Given the description of an element on the screen output the (x, y) to click on. 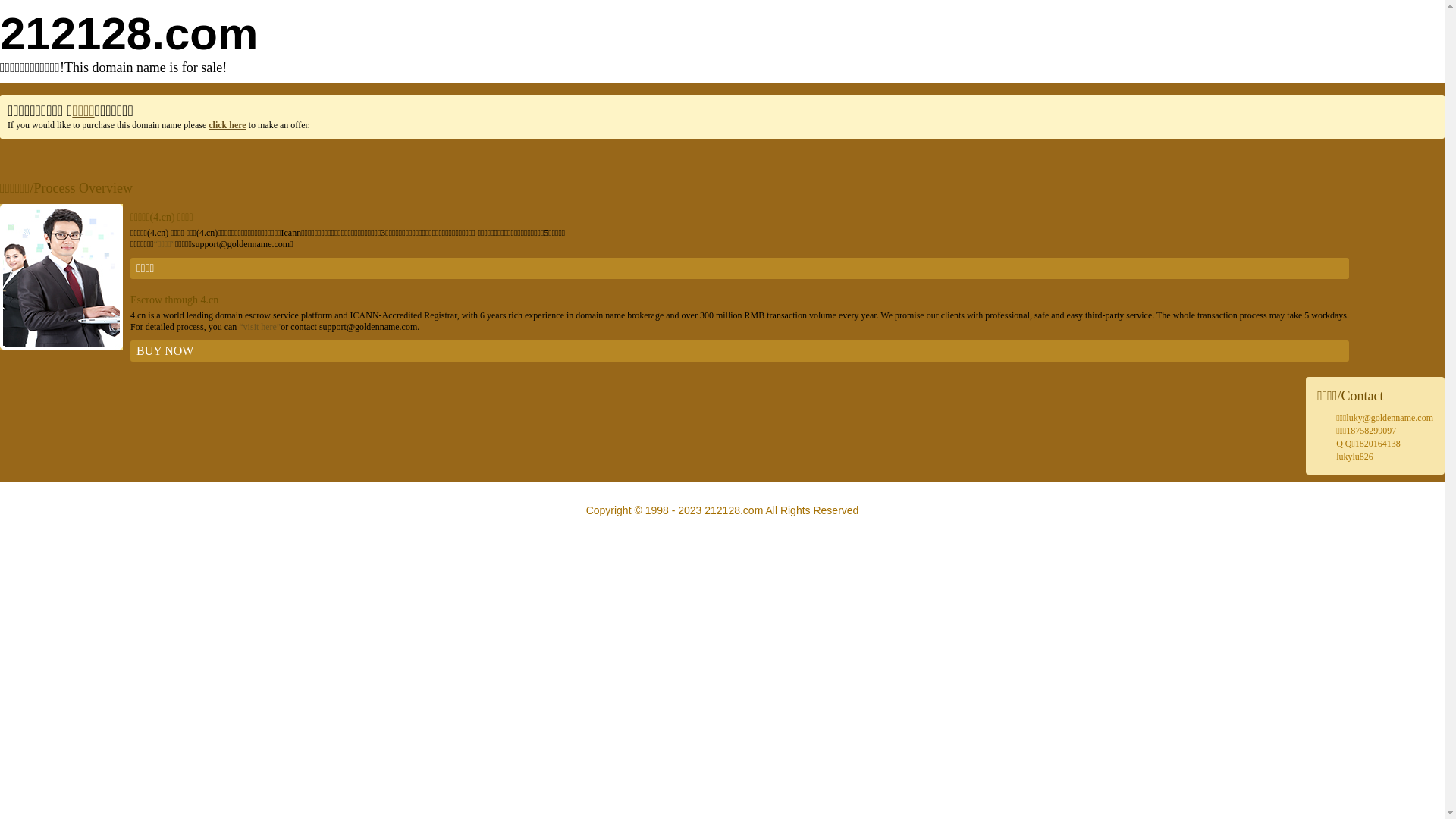
BUY NOW Element type: text (739, 350)
click here Element type: text (226, 124)
